Given the description of an element on the screen output the (x, y) to click on. 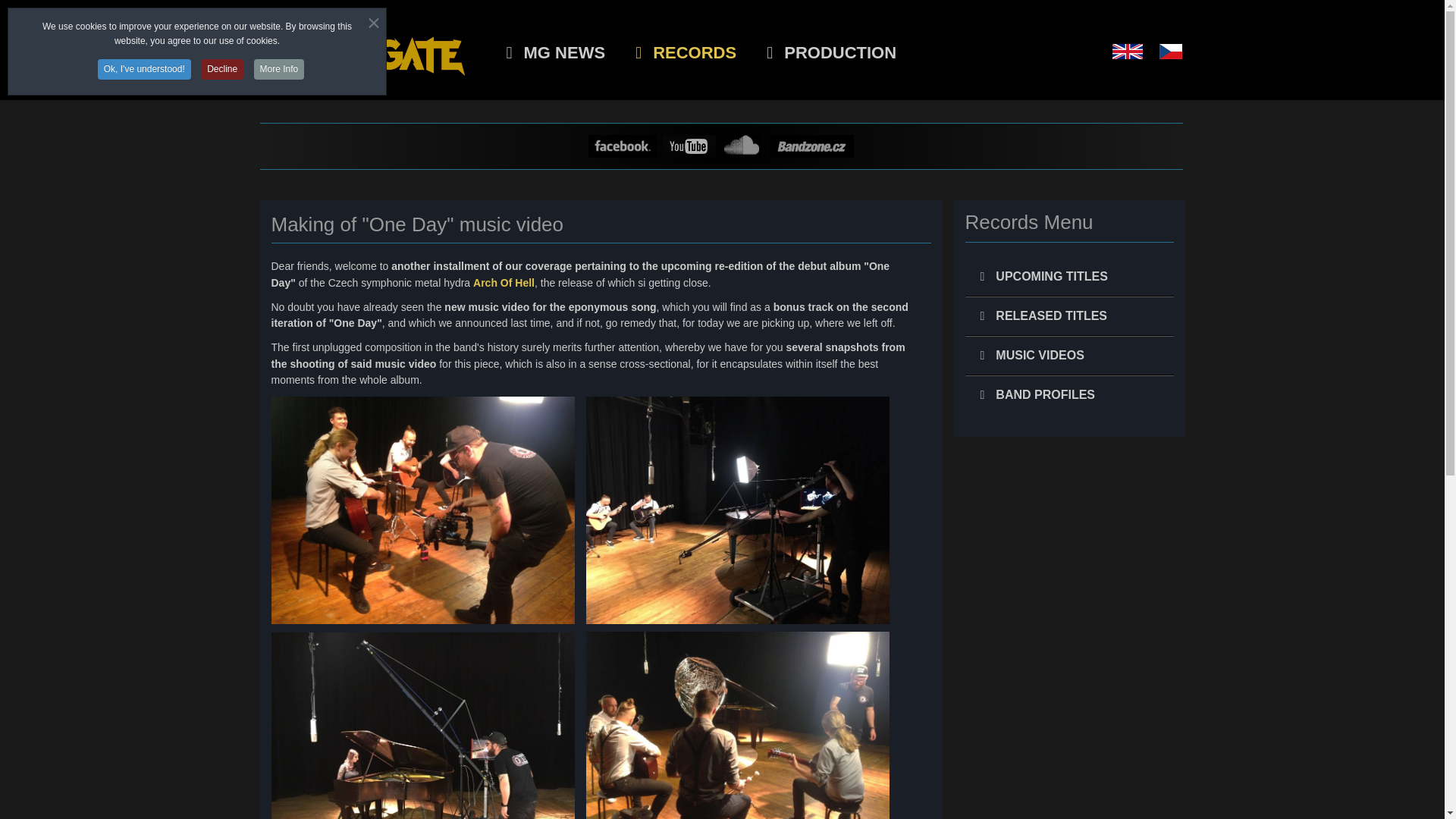
RECORDS (685, 53)
Ok, I've understood! (143, 68)
Arch Of Hell (503, 282)
UPCOMING TITLES (1068, 276)
RELEASED TITLES (1068, 315)
MUSIC VIDEOS (1068, 355)
Making of "One Day" music video (417, 223)
MG NEWS (556, 53)
Decline (221, 68)
PRODUCTION (831, 53)
BAND PROFILES (1068, 394)
More Info (278, 68)
